Given the description of an element on the screen output the (x, y) to click on. 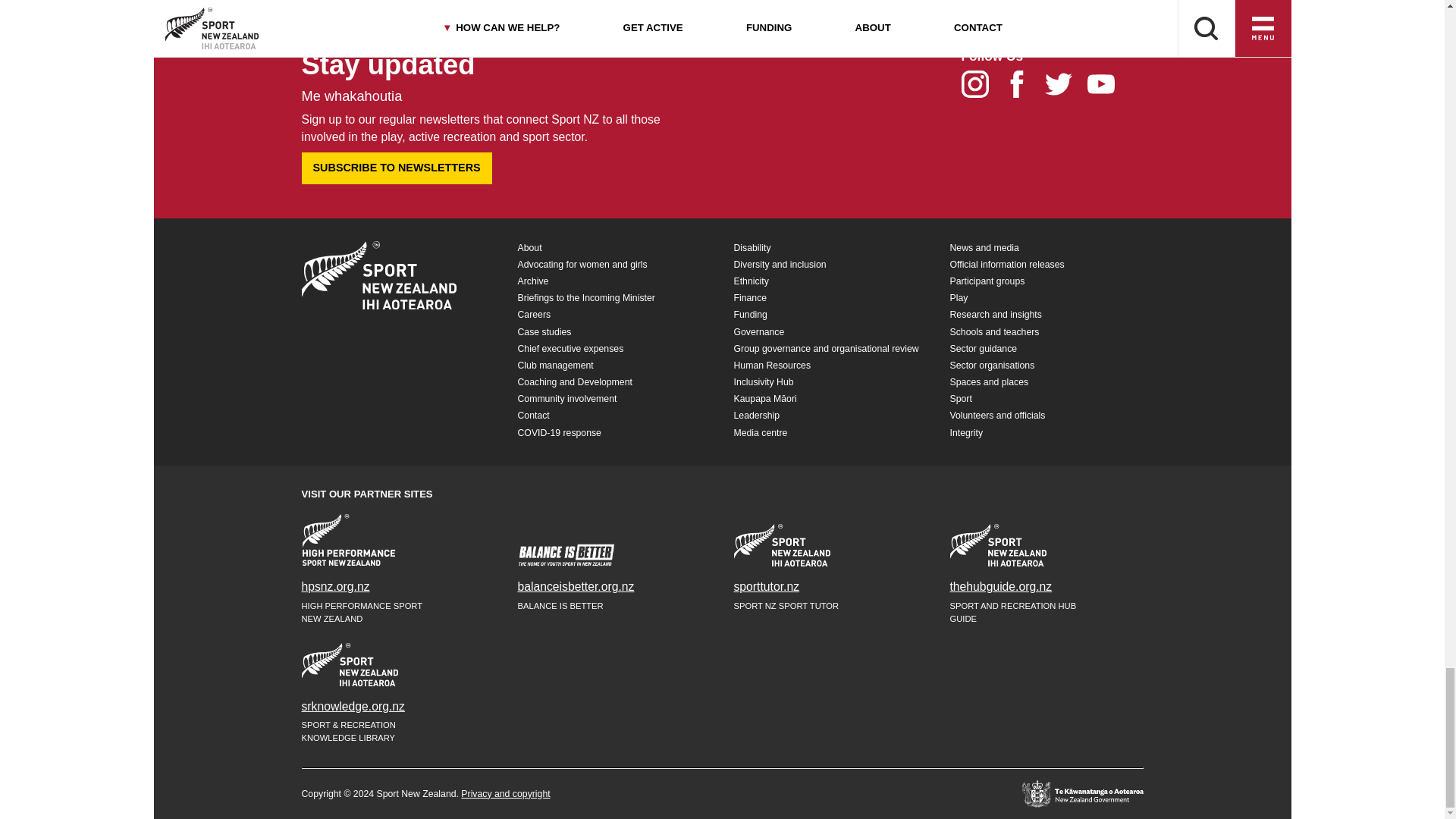
YouTube (1106, 88)
Instagram (981, 88)
Twitter (1065, 88)
Facebook (1024, 88)
